Given the description of an element on the screen output the (x, y) to click on. 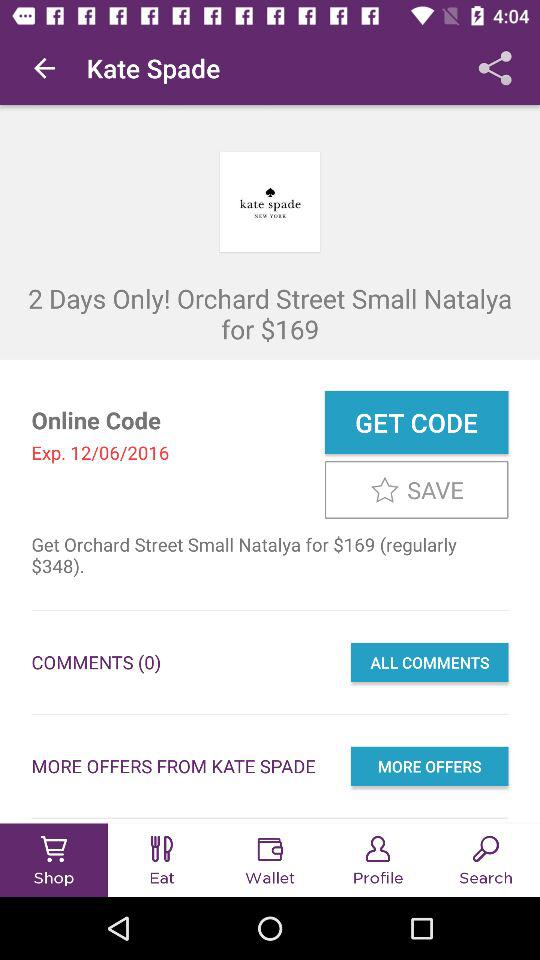
open item above 2 days only icon (44, 68)
